Given the description of an element on the screen output the (x, y) to click on. 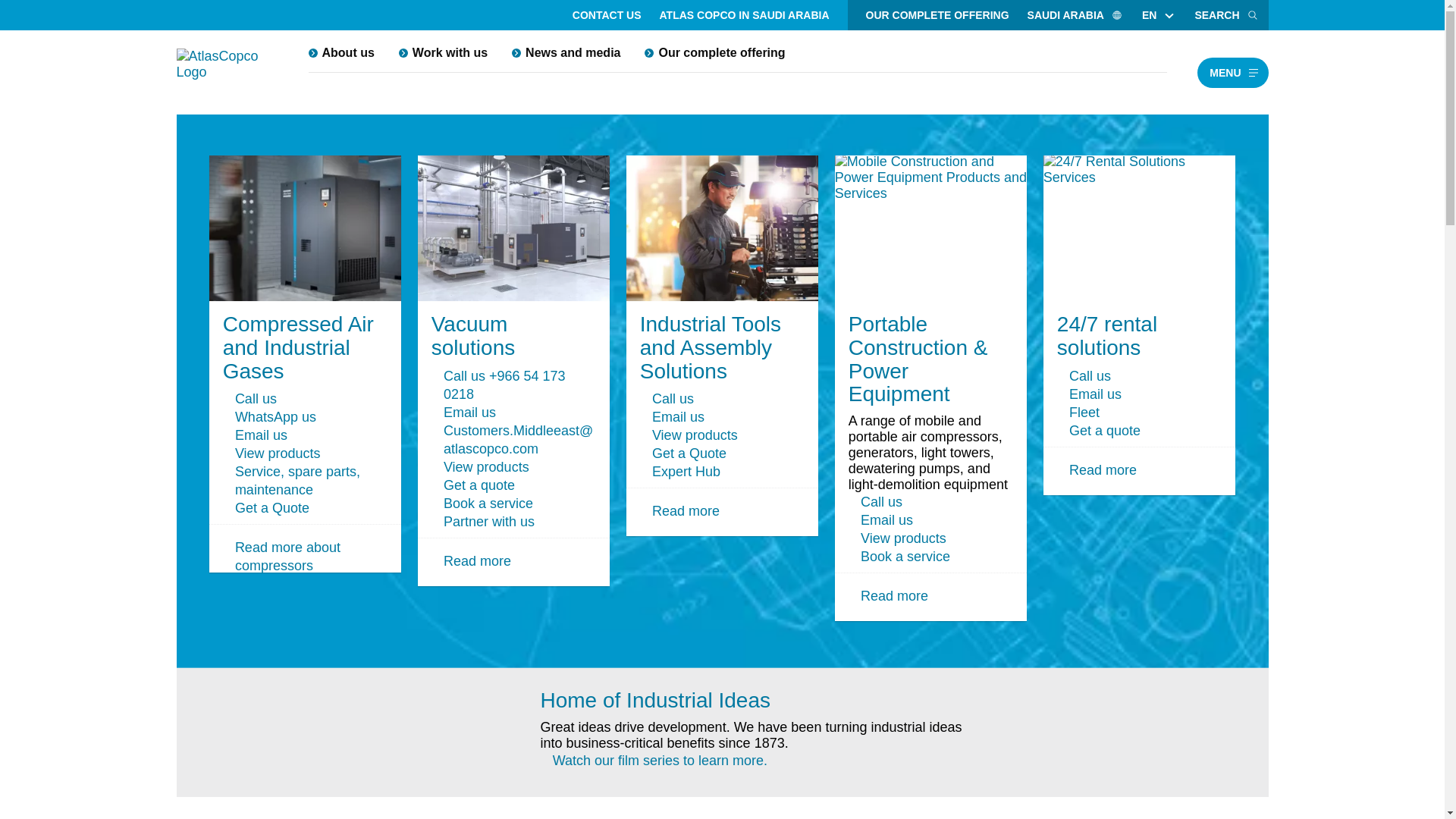
AtlasCopco Logo (227, 72)
Service technician standing in front of compressors.  (483, 724)
MENU (1232, 72)
CONTACT US (606, 15)
SEARCH (1226, 15)
EN (1149, 15)
Work with us (443, 52)
OUR COMPLETE OFFERING (937, 15)
About us (340, 52)
Our complete offering (713, 52)
